Given the description of an element on the screen output the (x, y) to click on. 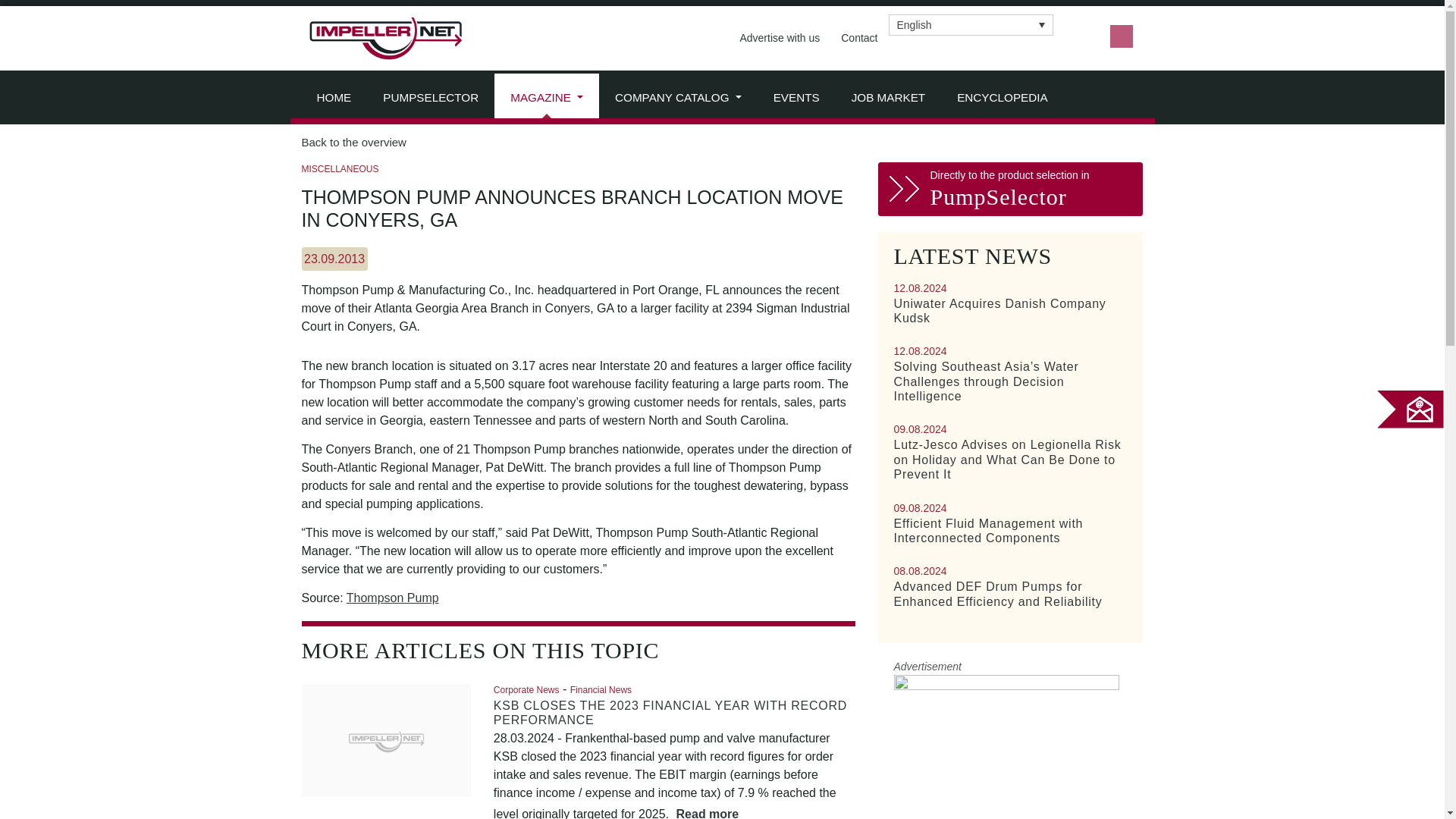
Back to the overview (721, 142)
Corporate News (526, 688)
Advertise with us (779, 37)
COMPANY CATALOG (677, 97)
ENCYCLOPEDIA (1002, 97)
English (970, 24)
HOME (332, 97)
EVENTS (796, 97)
MAGAZINE (546, 97)
Thompson Pump (392, 597)
